Given the description of an element on the screen output the (x, y) to click on. 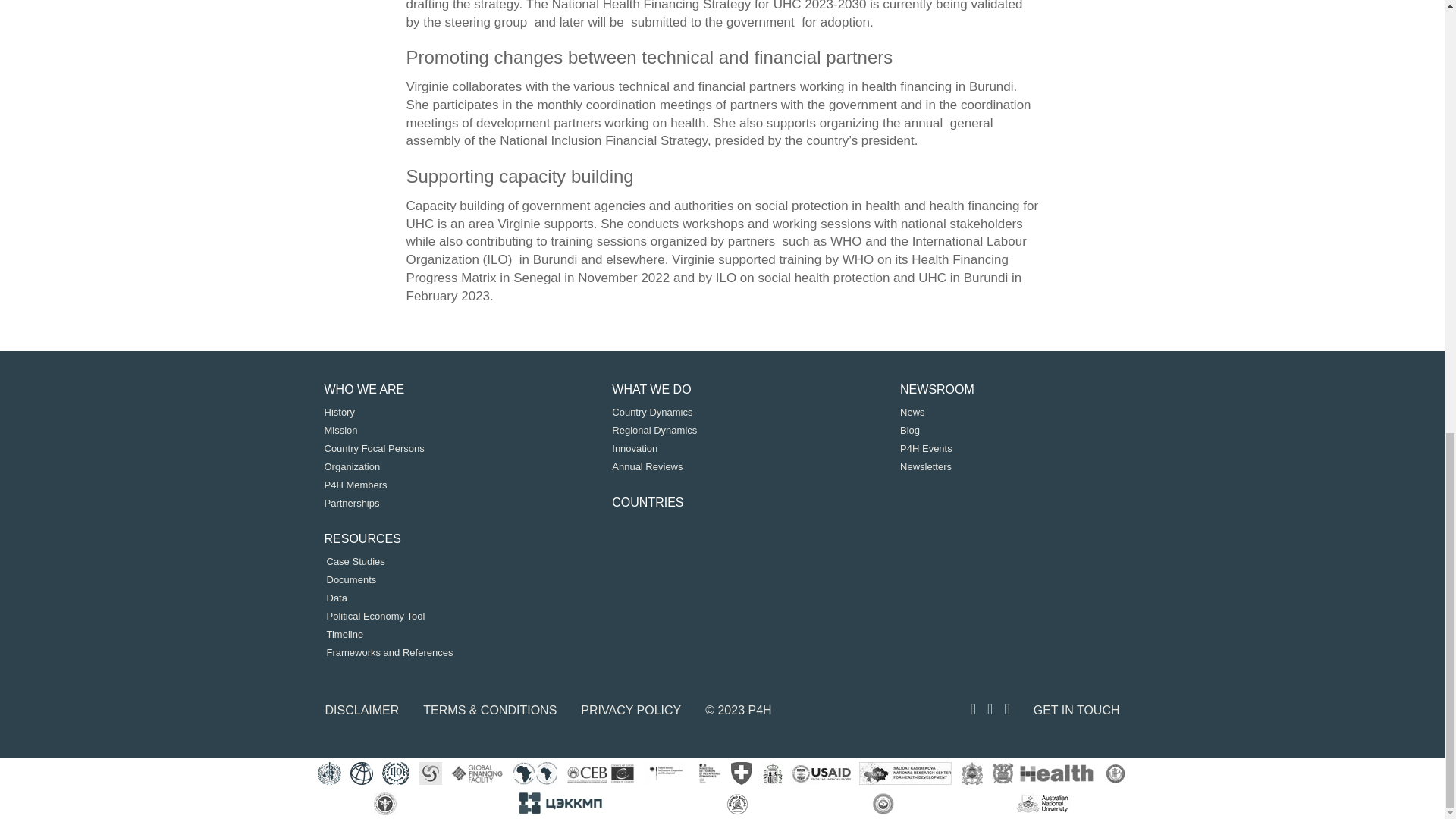
Screen-Shot-2017-06-28-at-9.22.26-PM (741, 773)
FUSPH-logo bw (1114, 773)
GFF logo bw (476, 773)
gf (430, 773)
download (971, 773)
logo-combined-grey (821, 773)
GSPH logo4-2 bw (1042, 773)
